Given the description of an element on the screen output the (x, y) to click on. 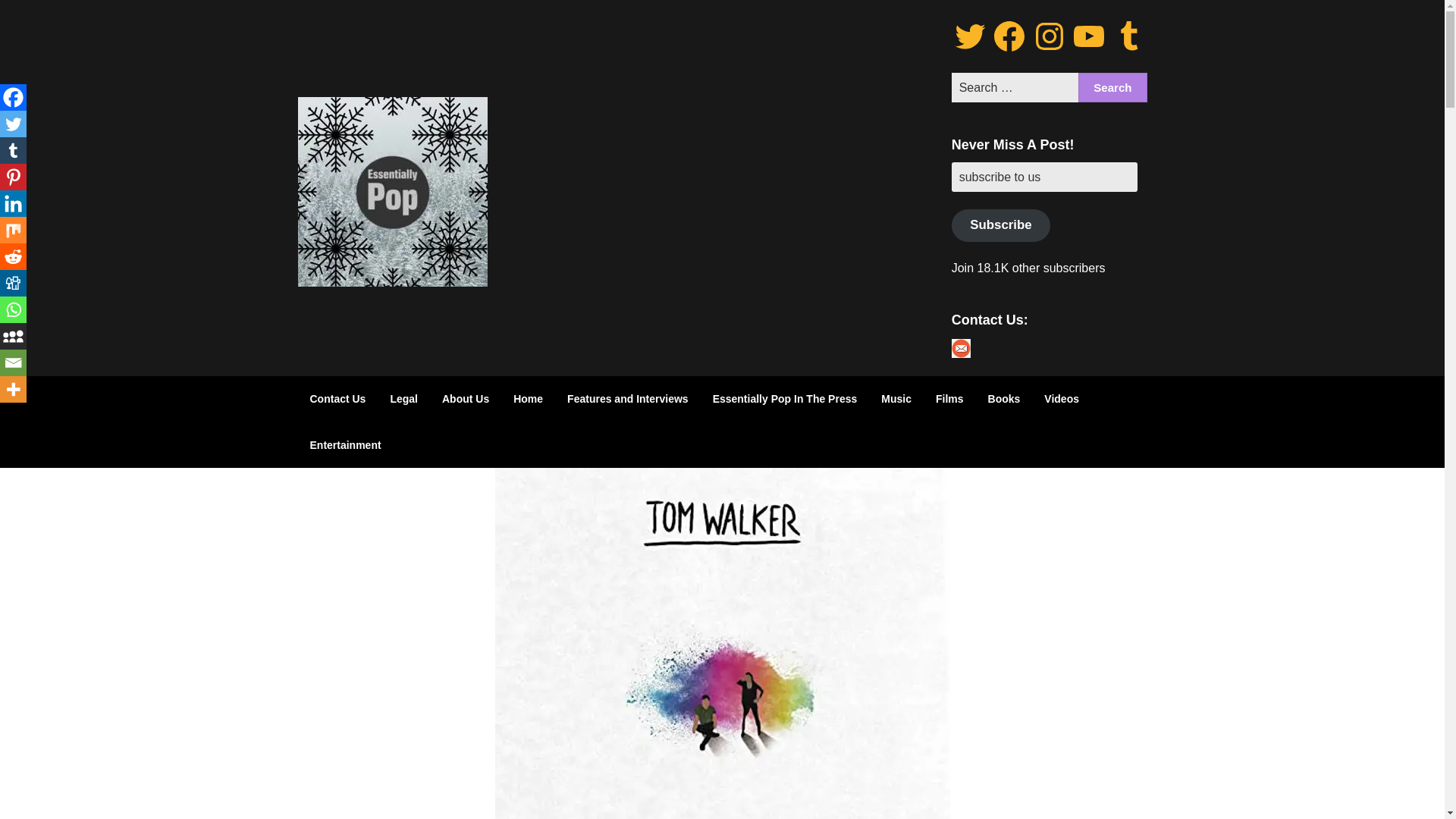
Music (896, 398)
Tumblr (1128, 36)
Twitter (13, 123)
Essentially Pop In The Press (784, 398)
Digg (13, 283)
Search (1112, 87)
Subscribe (1000, 225)
Tumblr (13, 150)
Search (1112, 87)
Books (1003, 398)
Legal (403, 398)
YouTube (1088, 36)
Contact Us (337, 398)
Search (1112, 87)
Entertainment (345, 444)
